Given the description of an element on the screen output the (x, y) to click on. 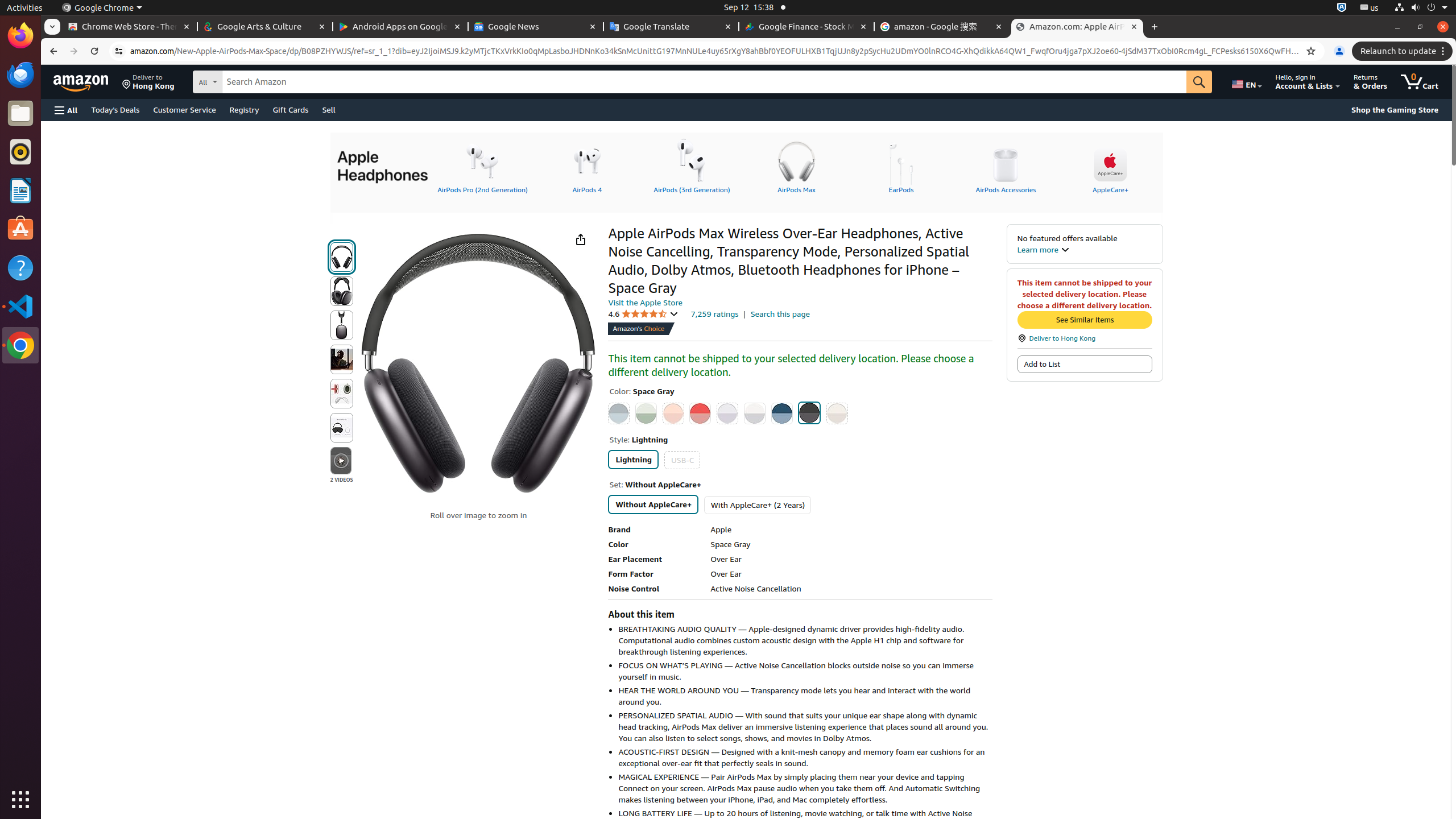
Blue Element type: push-button (618, 412)
Go Element type: push-button (1199, 81)
EarPods Element type: link (901, 165)
Search this page Element type: link (779, 313)
AppleCare+ Element type: link (1110, 165)
